Given the description of an element on the screen output the (x, y) to click on. 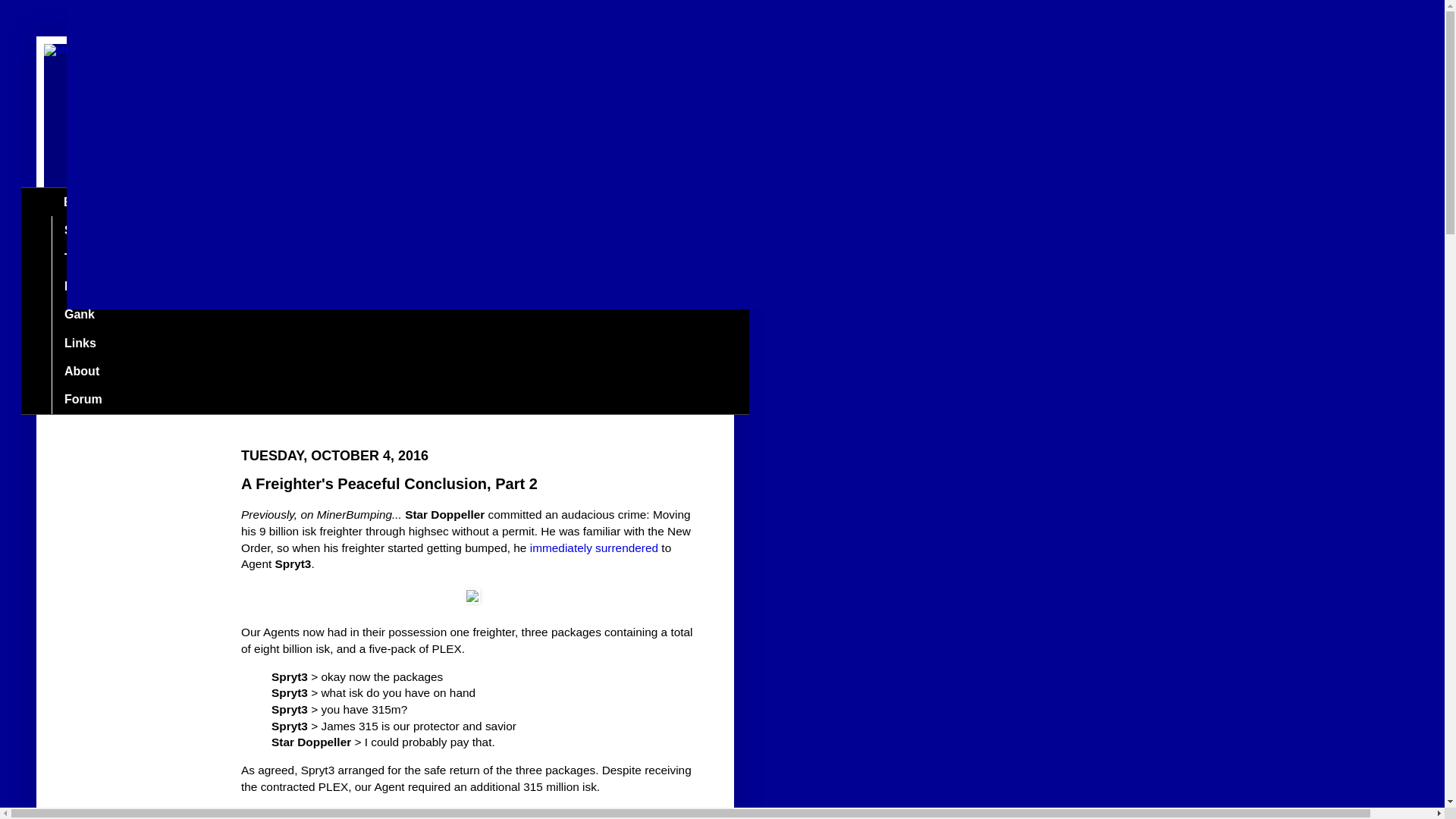
Become an Agent (114, 286)
About (81, 370)
Gank (78, 315)
Forum (82, 398)
The Code (91, 257)
immediately surrendered (593, 547)
BLOG (80, 202)
Links (78, 343)
Shareholders (102, 230)
